Given the description of an element on the screen output the (x, y) to click on. 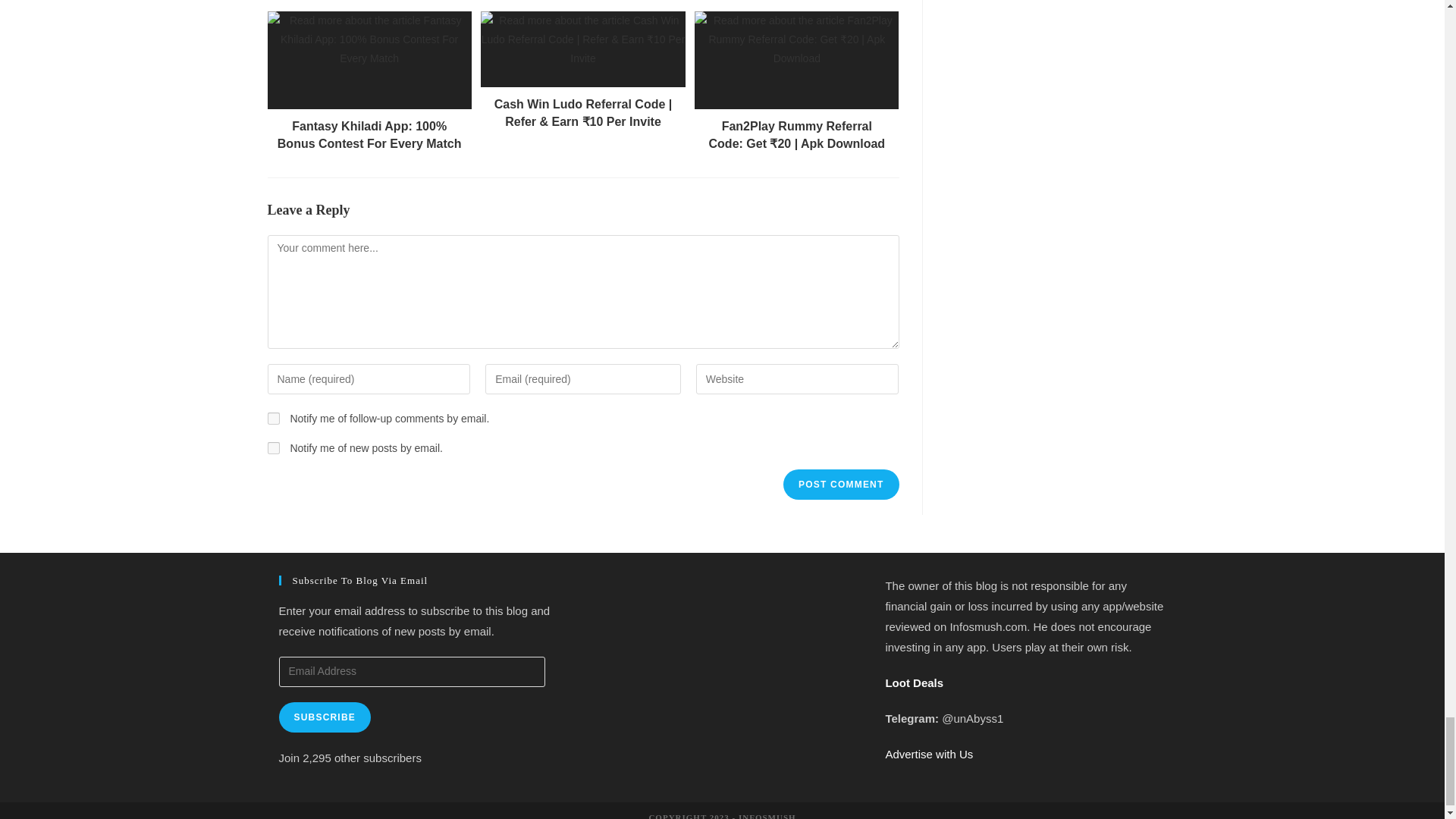
Post Comment (840, 484)
subscribe (272, 448)
subscribe (272, 418)
